Given the description of an element on the screen output the (x, y) to click on. 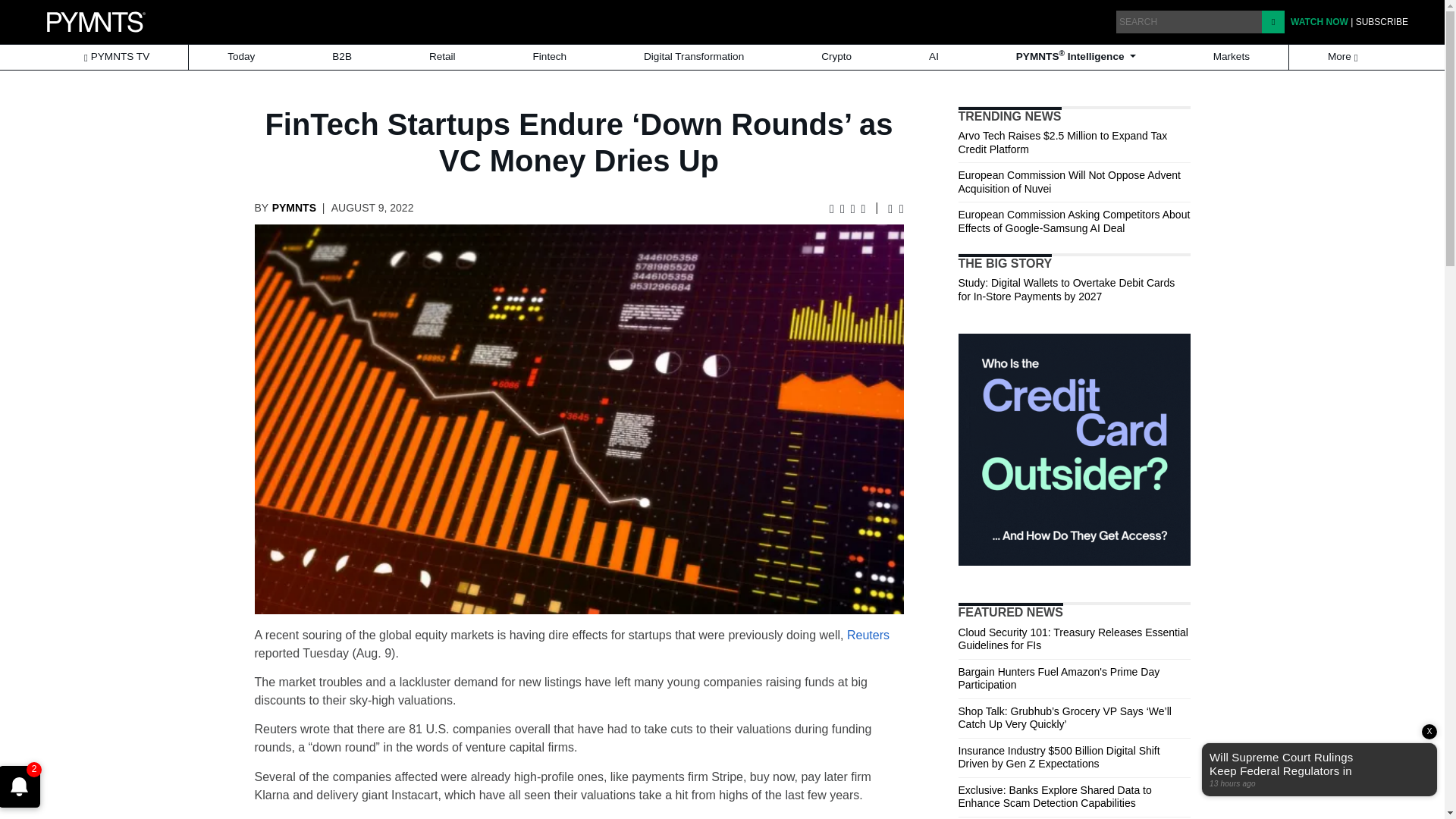
WATCH NOW (1319, 21)
AI (932, 57)
 PYMNTS TV (116, 57)
Digital Transformation (694, 57)
SUBSCRIBE (1381, 21)
Retail (442, 57)
Fintech (550, 57)
B2B (342, 57)
More  (1343, 57)
Crypto (836, 57)
Markets (1231, 57)
Today (241, 57)
Posts by PYMNTS (293, 207)
